Given the description of an element on the screen output the (x, y) to click on. 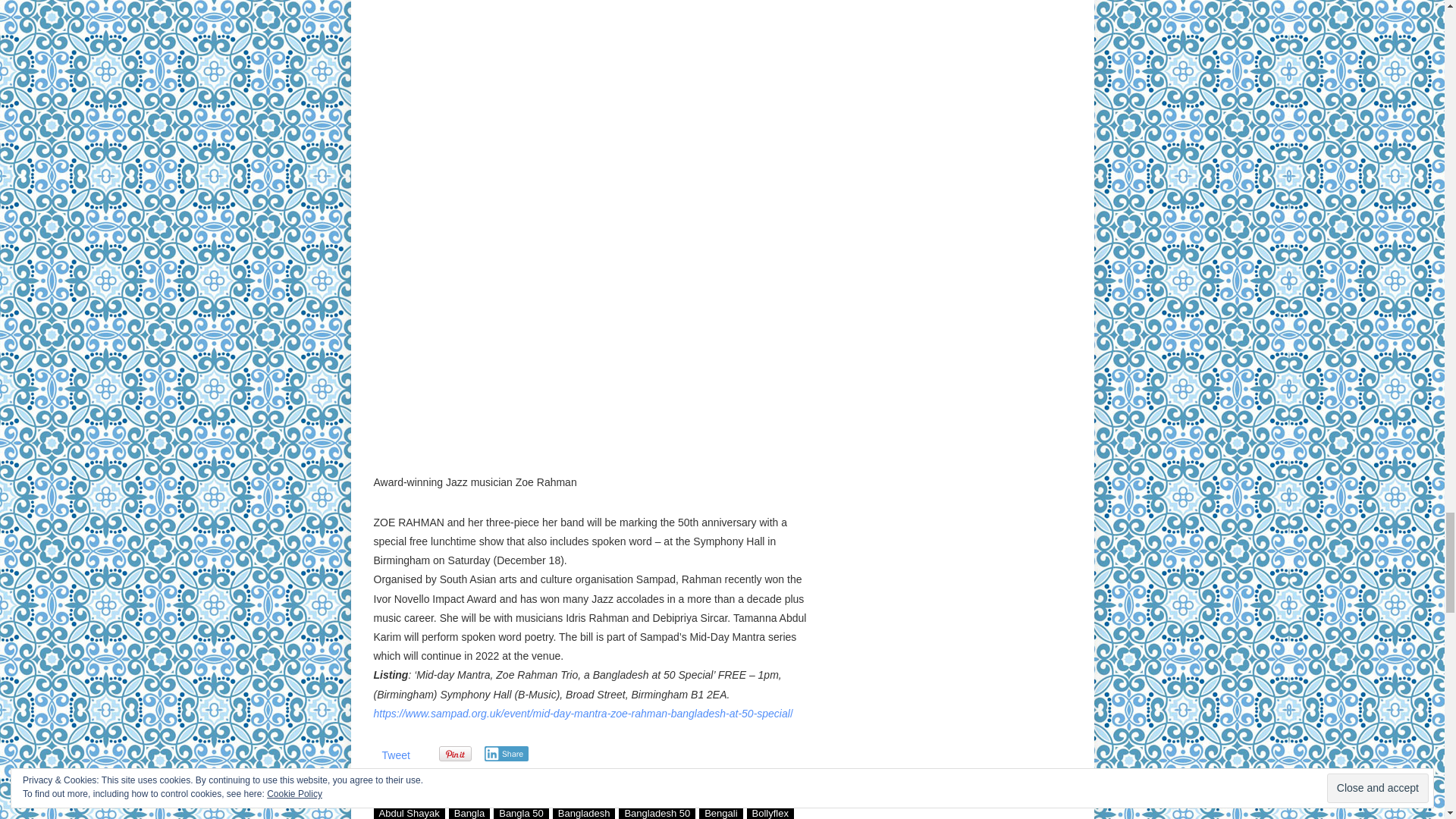
Pin It (454, 754)
Bangla (468, 811)
Share (505, 753)
Bangladesh (584, 811)
Bangla 50 (520, 811)
Abdul Shayak (408, 811)
Tweet (395, 755)
Bangladesh 50 (656, 811)
